Given the description of an element on the screen output the (x, y) to click on. 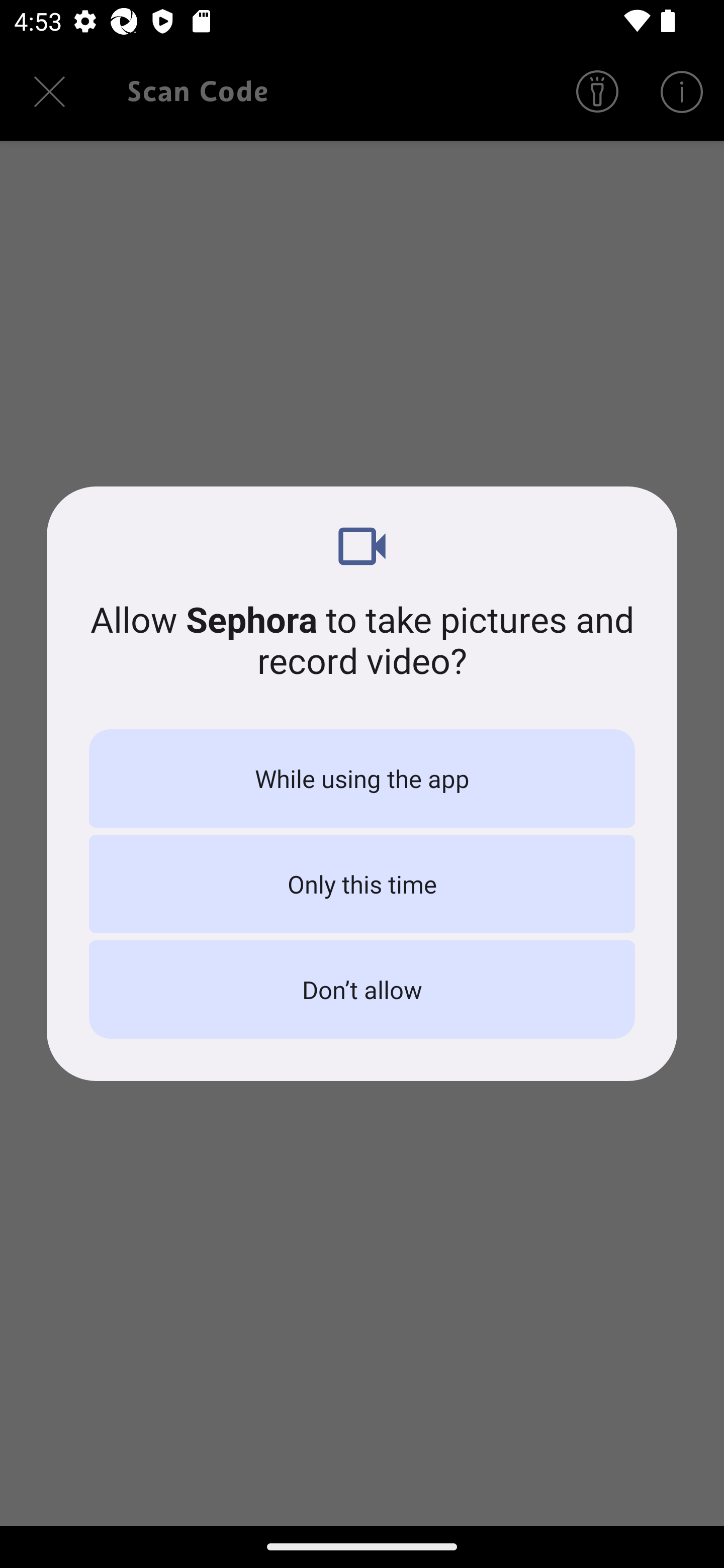
While using the app (361, 778)
Only this time (361, 883)
Don’t allow (361, 989)
